Given the description of an element on the screen output the (x, y) to click on. 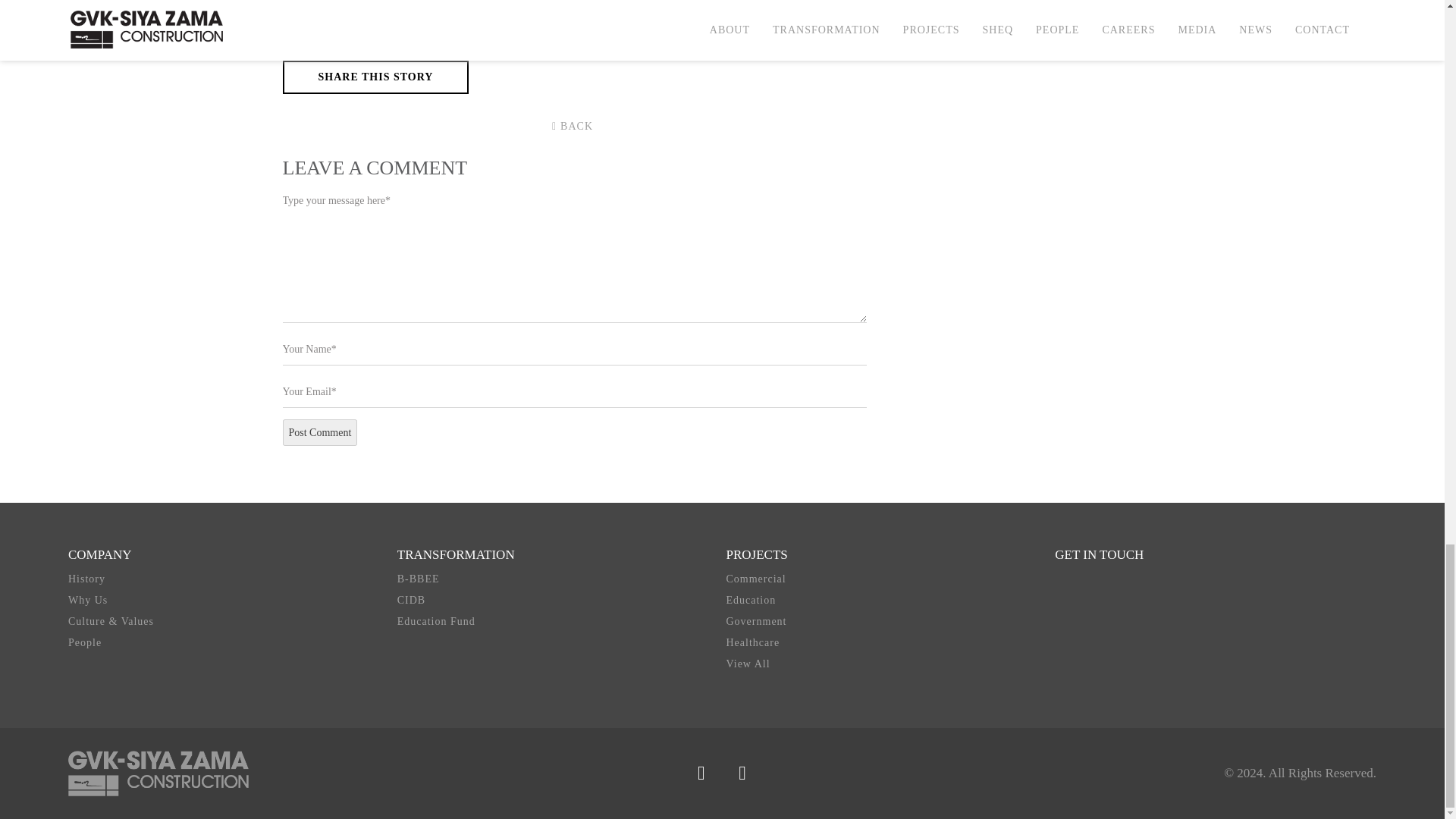
SHARE THIS STORY (375, 77)
Post Comment (319, 432)
